Given the description of an element on the screen output the (x, y) to click on. 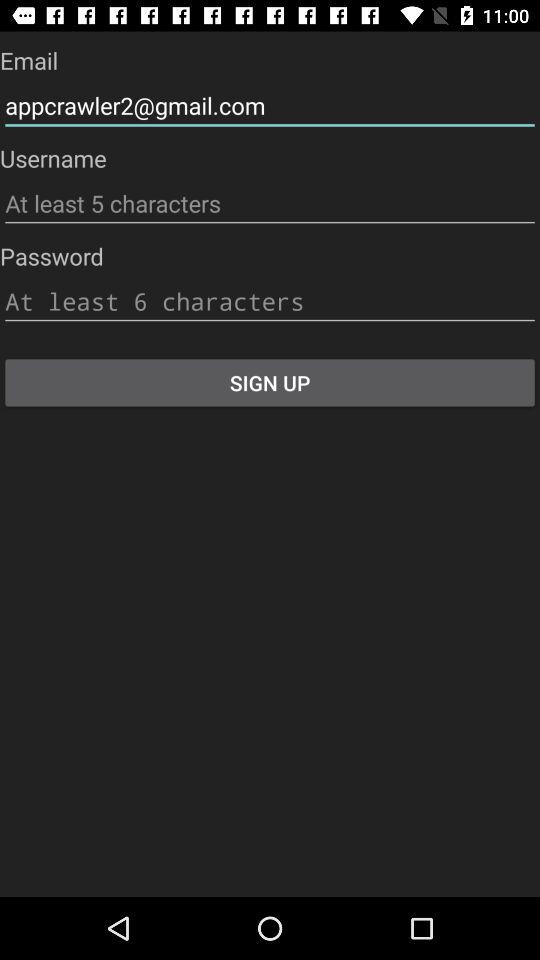
username entry (270, 203)
